Given the description of an element on the screen output the (x, y) to click on. 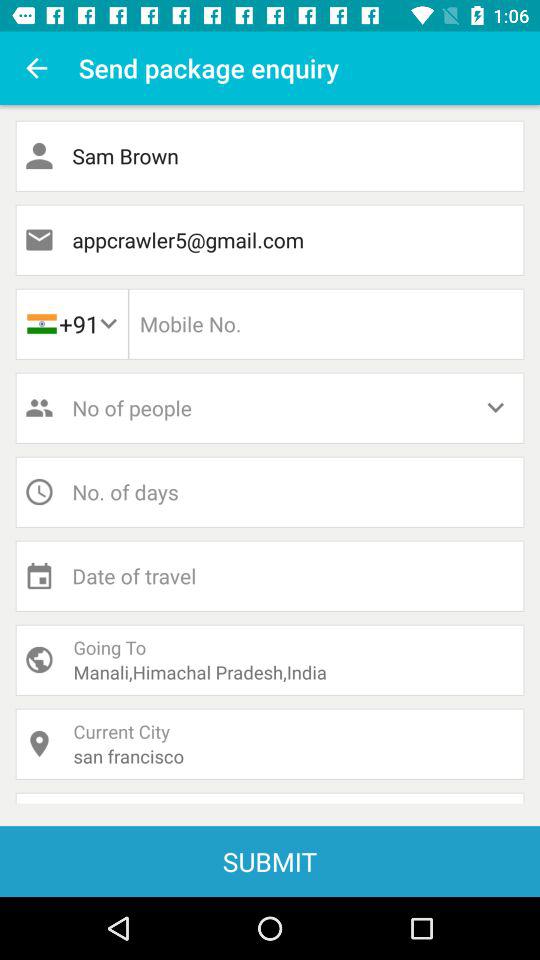
press +91 item (71, 323)
